Given the description of an element on the screen output the (x, y) to click on. 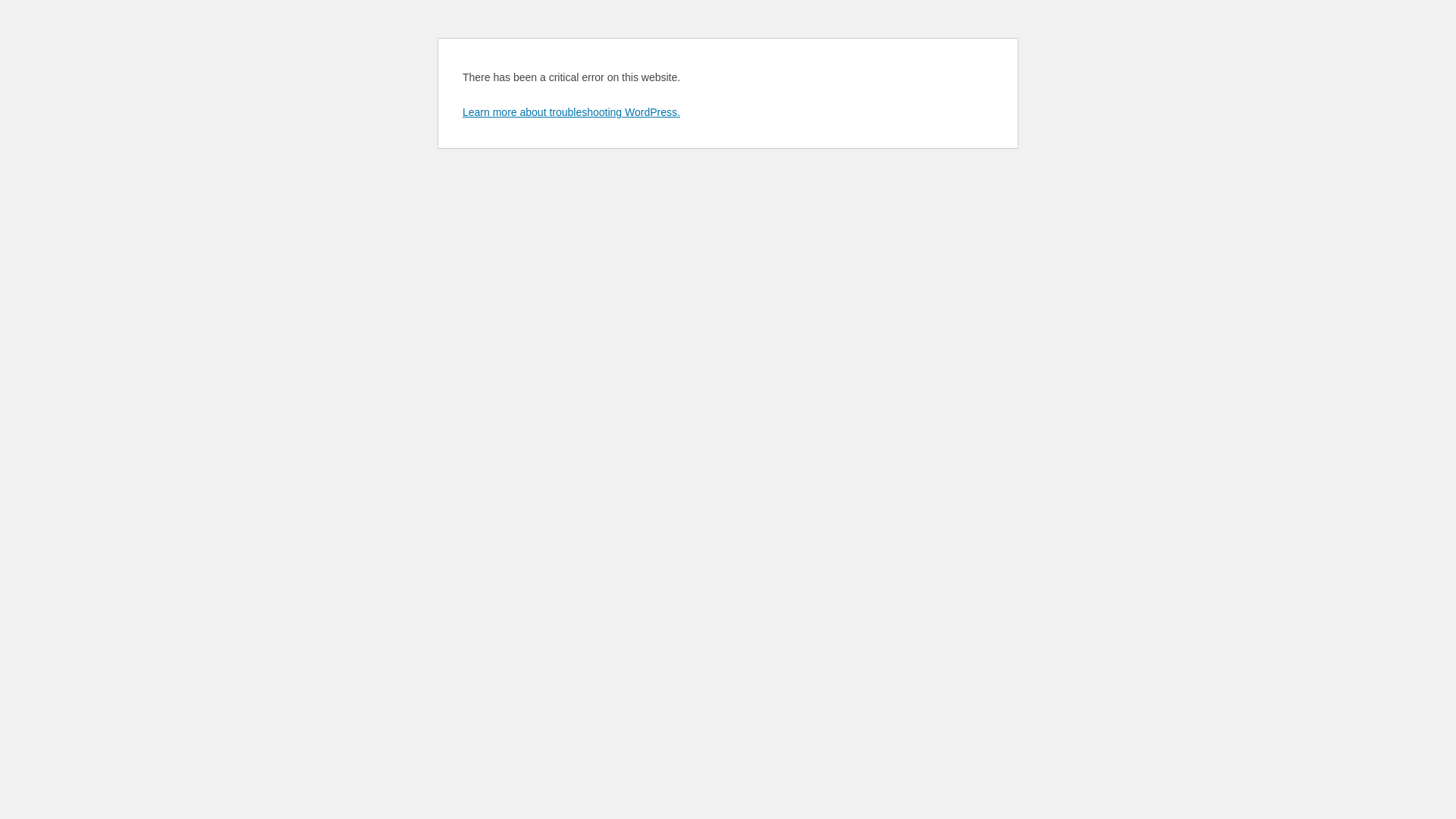
Learn more about troubleshooting WordPress. Element type: text (571, 112)
